Given the description of an element on the screen output the (x, y) to click on. 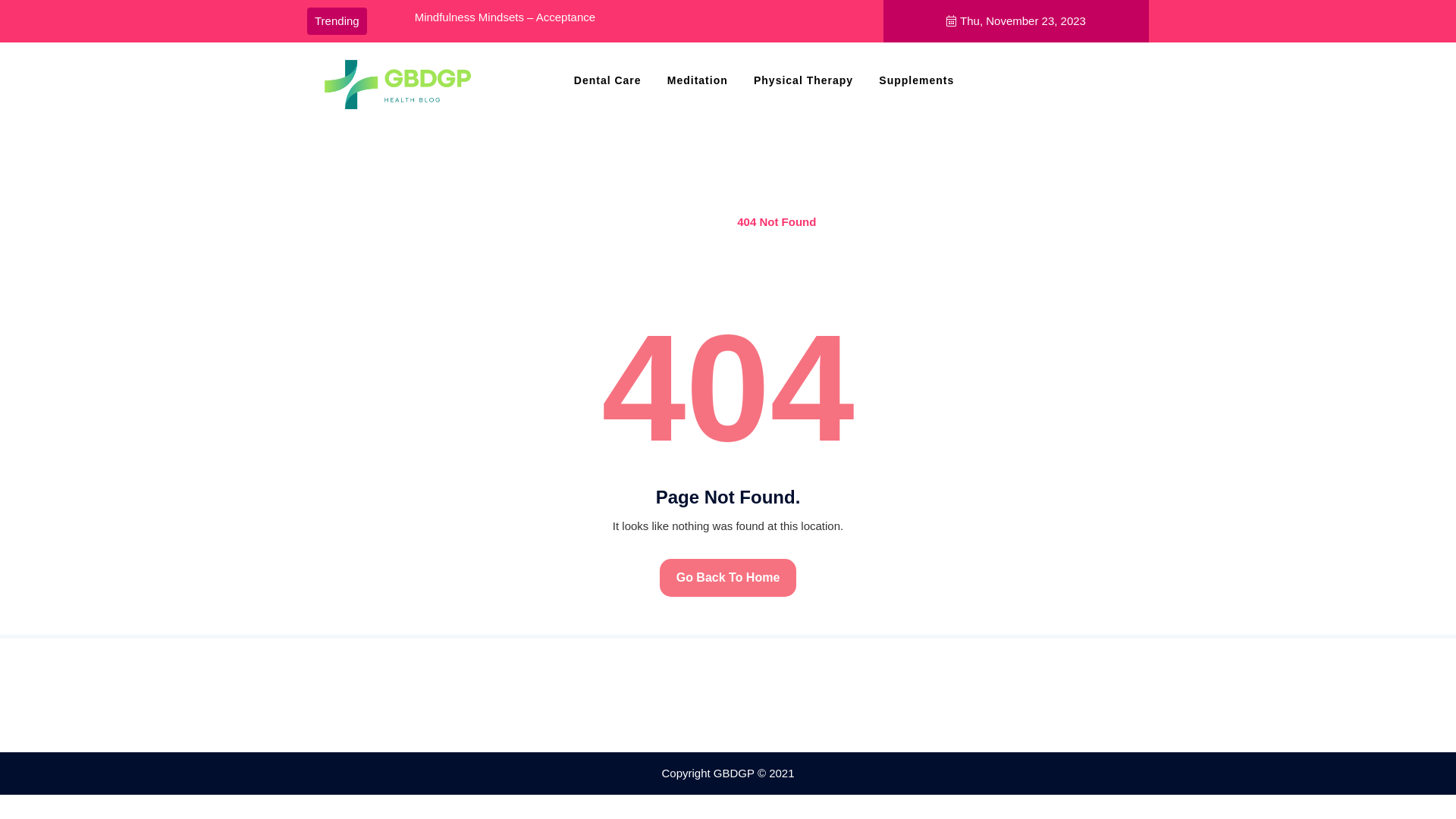
Meditation Element type: text (697, 80)
Dental Care Element type: text (607, 80)
Home Element type: text (701, 221)
Supplements Element type: text (916, 80)
Physical Therapy Element type: text (803, 80)
GBDGP Element type: text (348, 131)
Go Back To Home Element type: text (728, 577)
